Given the description of an element on the screen output the (x, y) to click on. 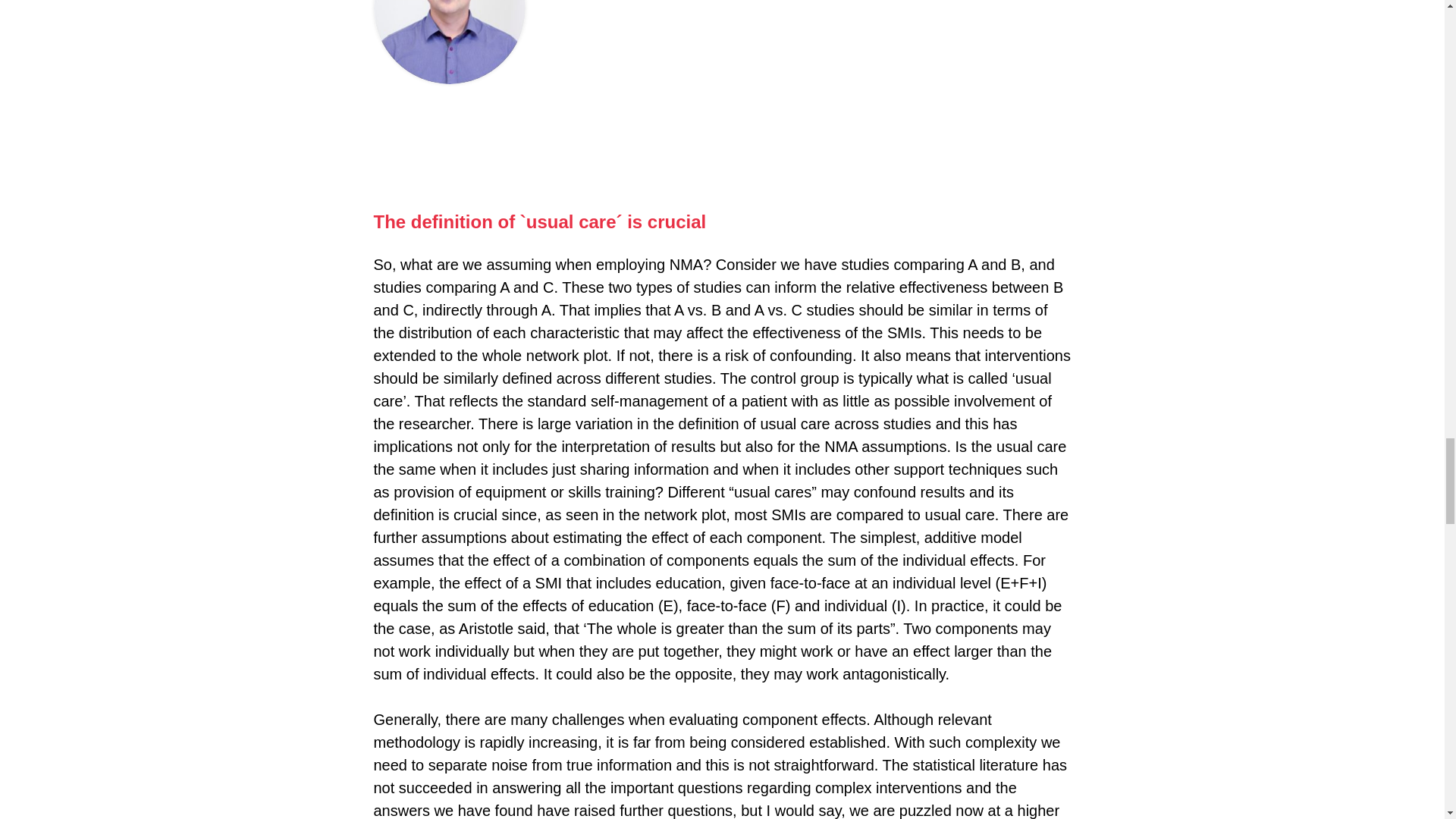
Dimitris (448, 42)
